Given the description of an element on the screen output the (x, y) to click on. 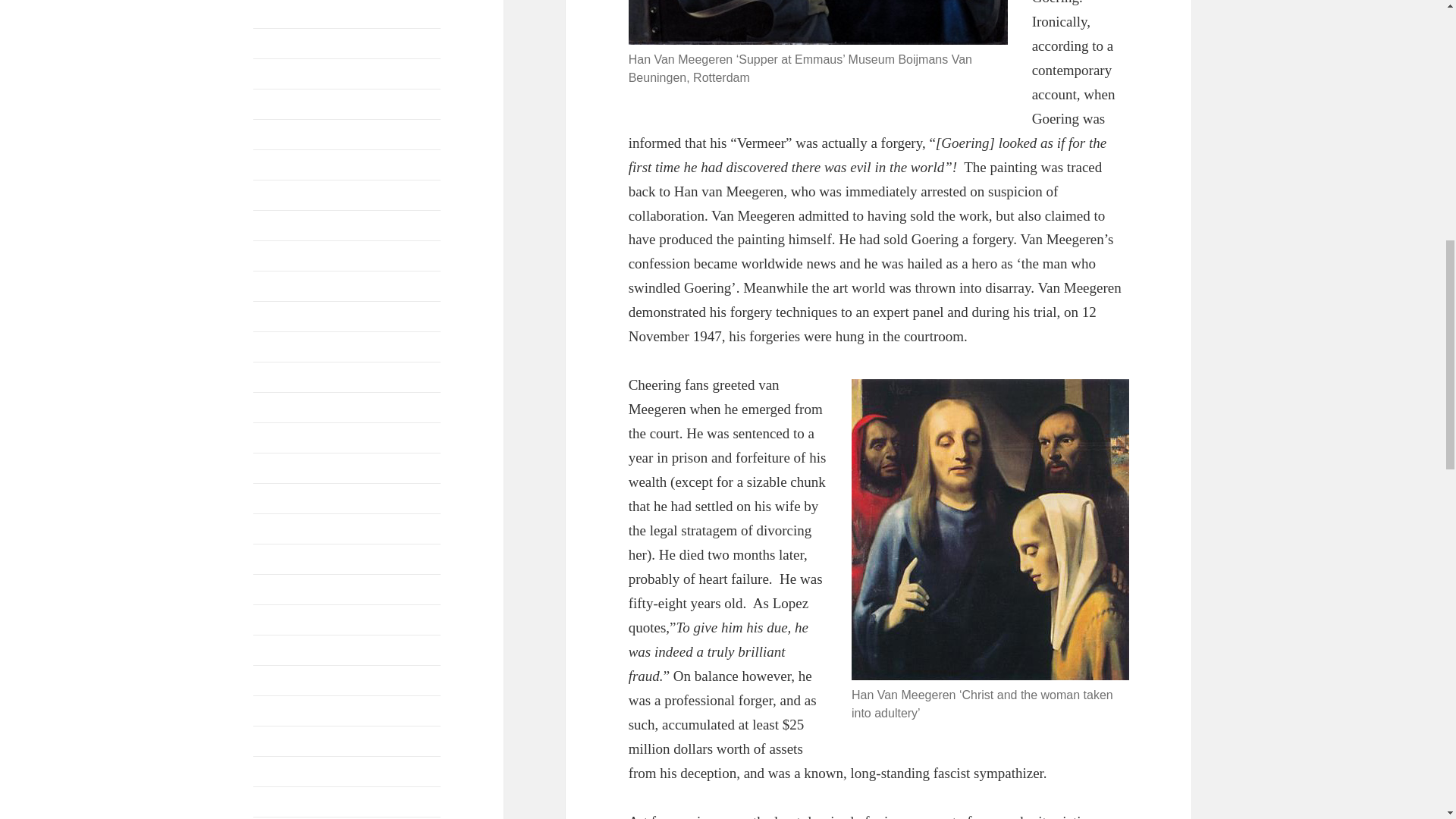
May 2012 (277, 468)
October 2011 (285, 649)
December 2014 (291, 133)
April 2012 (279, 498)
November 2015 (292, 12)
April 2015 (279, 73)
January 2012 (285, 558)
November 2011 (292, 619)
February 2014 (288, 255)
July 2014 (277, 164)
